Given the description of an element on the screen output the (x, y) to click on. 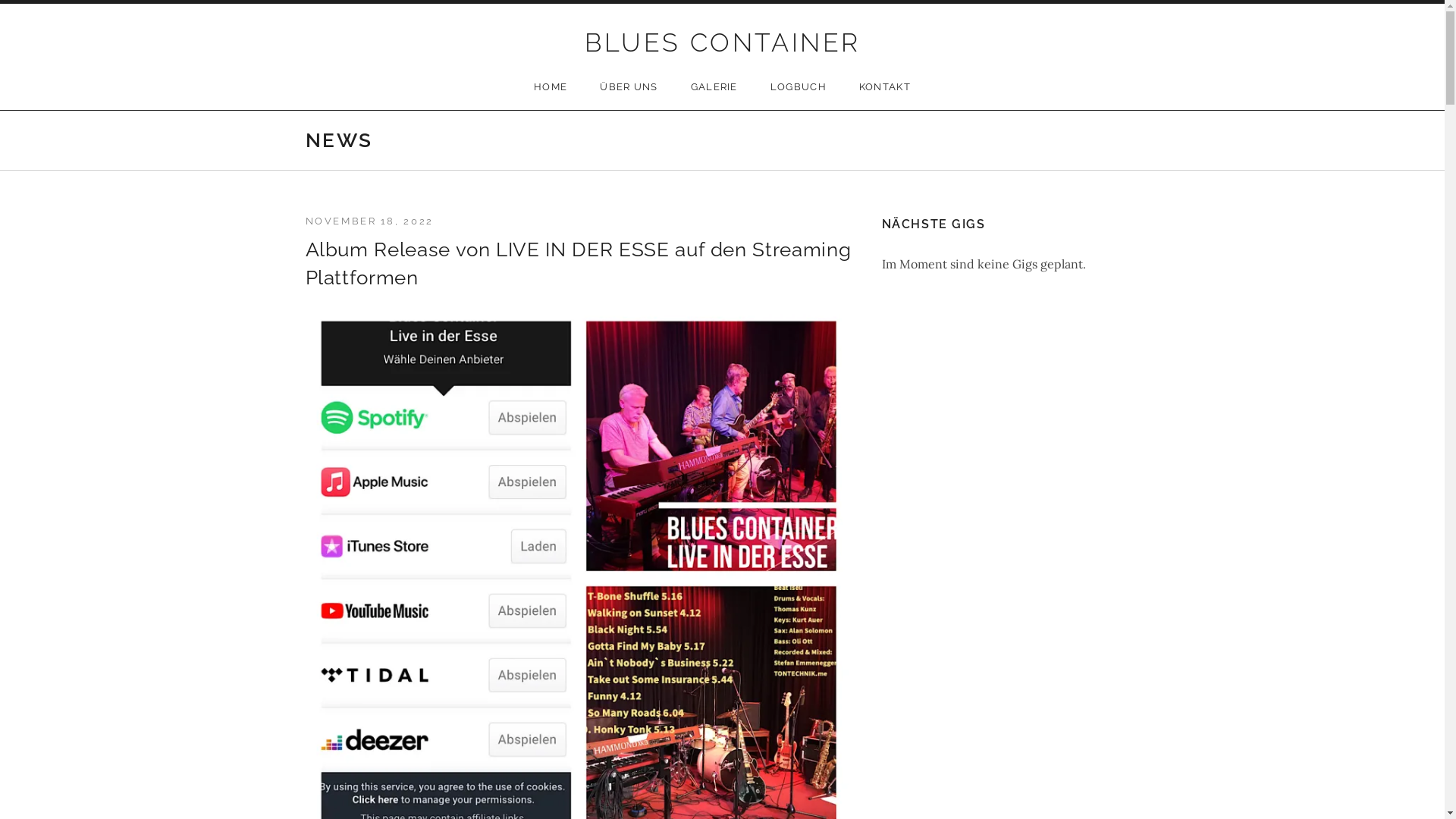
GALERIE Element type: text (714, 86)
KONTAKT Element type: text (884, 86)
LOGBUCH Element type: text (798, 86)
HOME Element type: text (550, 86)
BLUES CONTAINER Element type: text (721, 42)
